Given the description of an element on the screen output the (x, y) to click on. 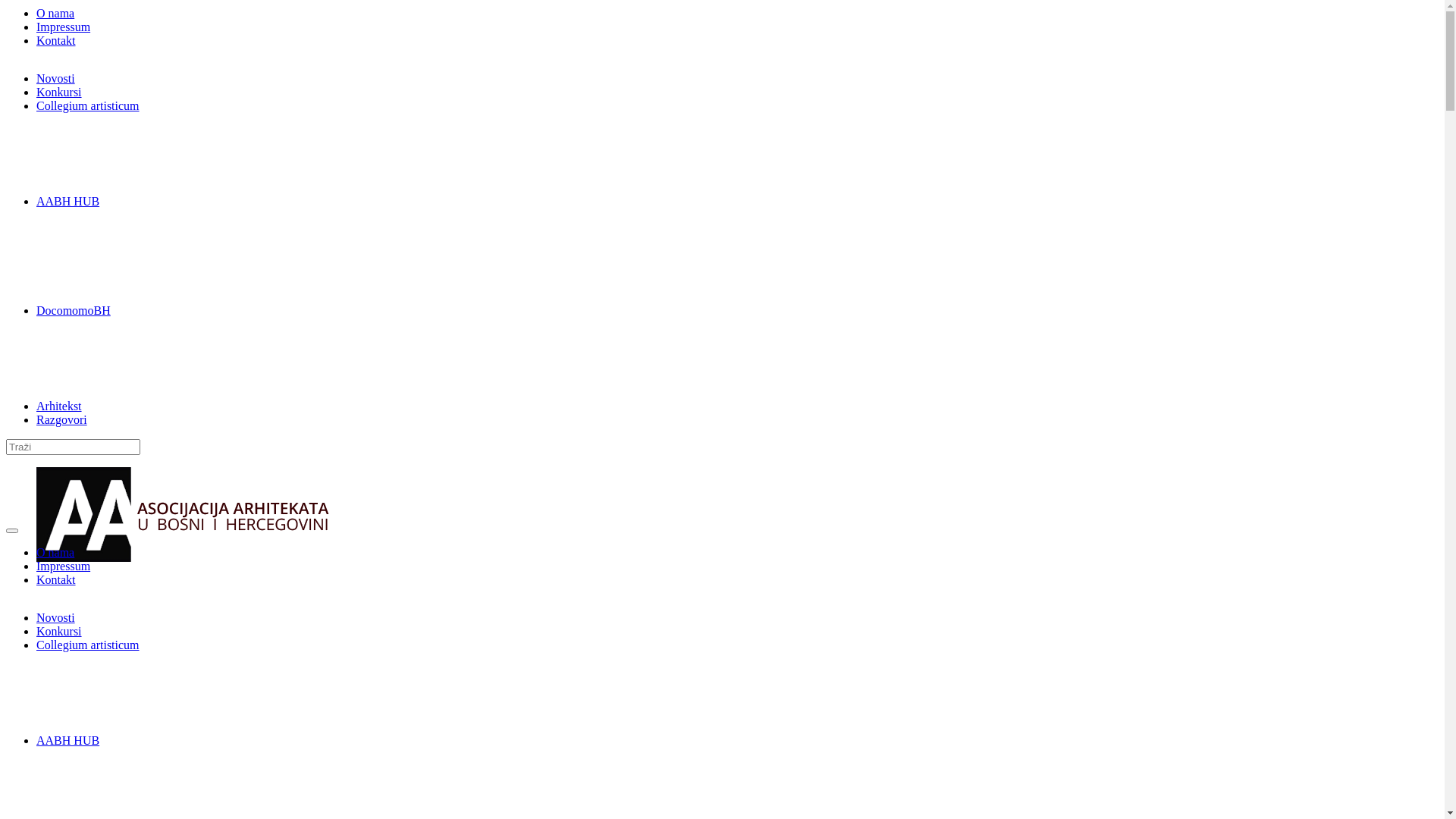
Collegium artisticum Element type: text (87, 644)
Kontakt Element type: text (55, 579)
AABH HUB Element type: text (67, 740)
Impressum Element type: text (63, 26)
Collegium artisticum Element type: text (87, 105)
O nama Element type: text (55, 552)
Impressum Element type: text (63, 565)
Konkursi Element type: text (58, 630)
Kontakt Element type: text (55, 40)
Novosti Element type: text (55, 617)
Razgovori Element type: text (61, 419)
DocomomoBH Element type: text (73, 310)
O nama Element type: text (55, 12)
Arhitekst Element type: text (58, 405)
Konkursi Element type: text (58, 91)
AABH HUB Element type: text (67, 200)
Novosti Element type: text (55, 78)
